Given the description of an element on the screen output the (x, y) to click on. 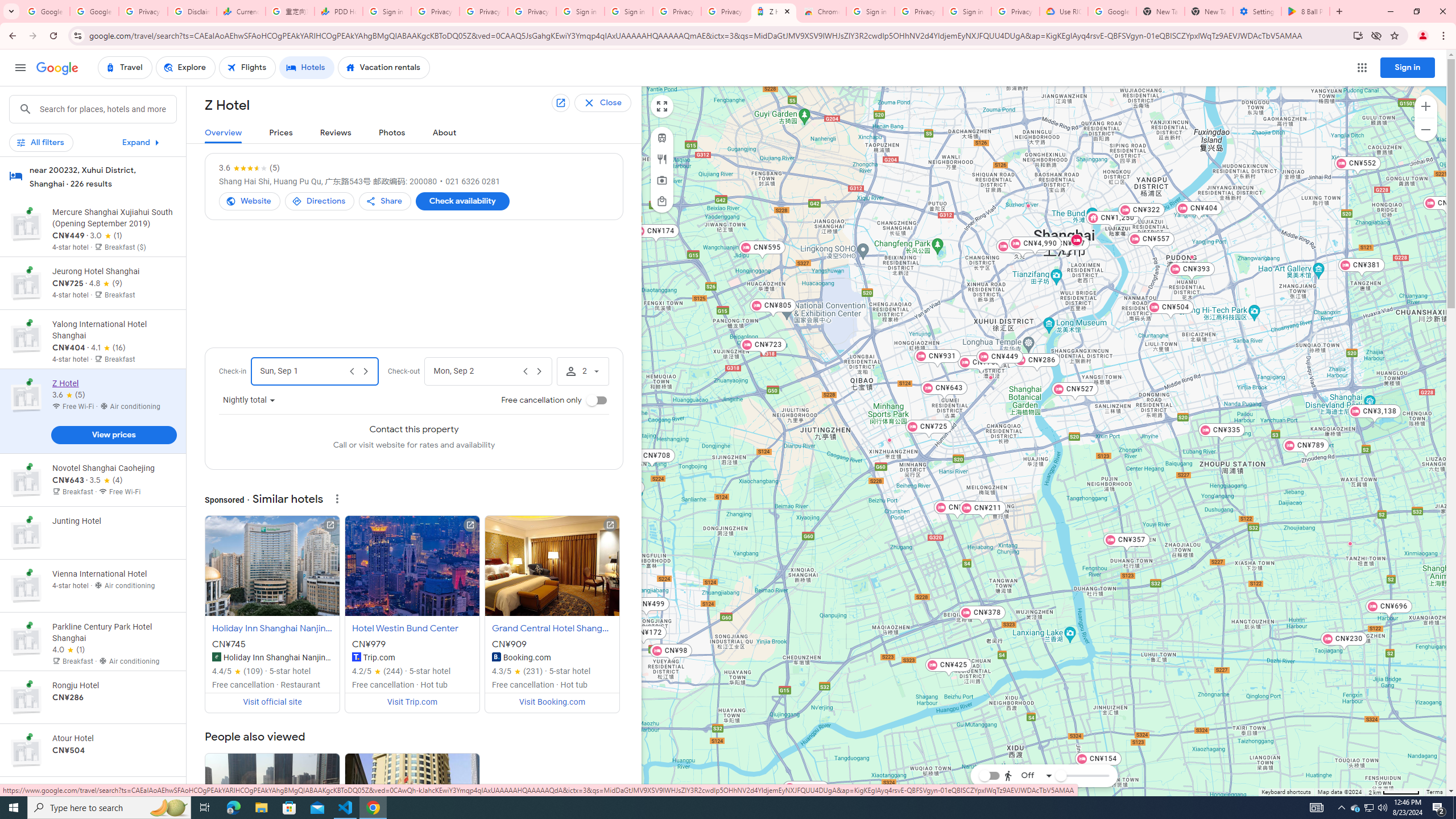
Walk (1025, 718)
Sign in - Google Accounts (966, 11)
All filters (40, 142)
Visit site for Z Hotel (249, 200)
Areas for dining (661, 158)
View prices for Jeurong Hotel Shanghai (113, 322)
Free cancellation only (596, 400)
4 out of 5 stars from 1 reviews (68, 650)
View prices (113, 434)
